Given the description of an element on the screen output the (x, y) to click on. 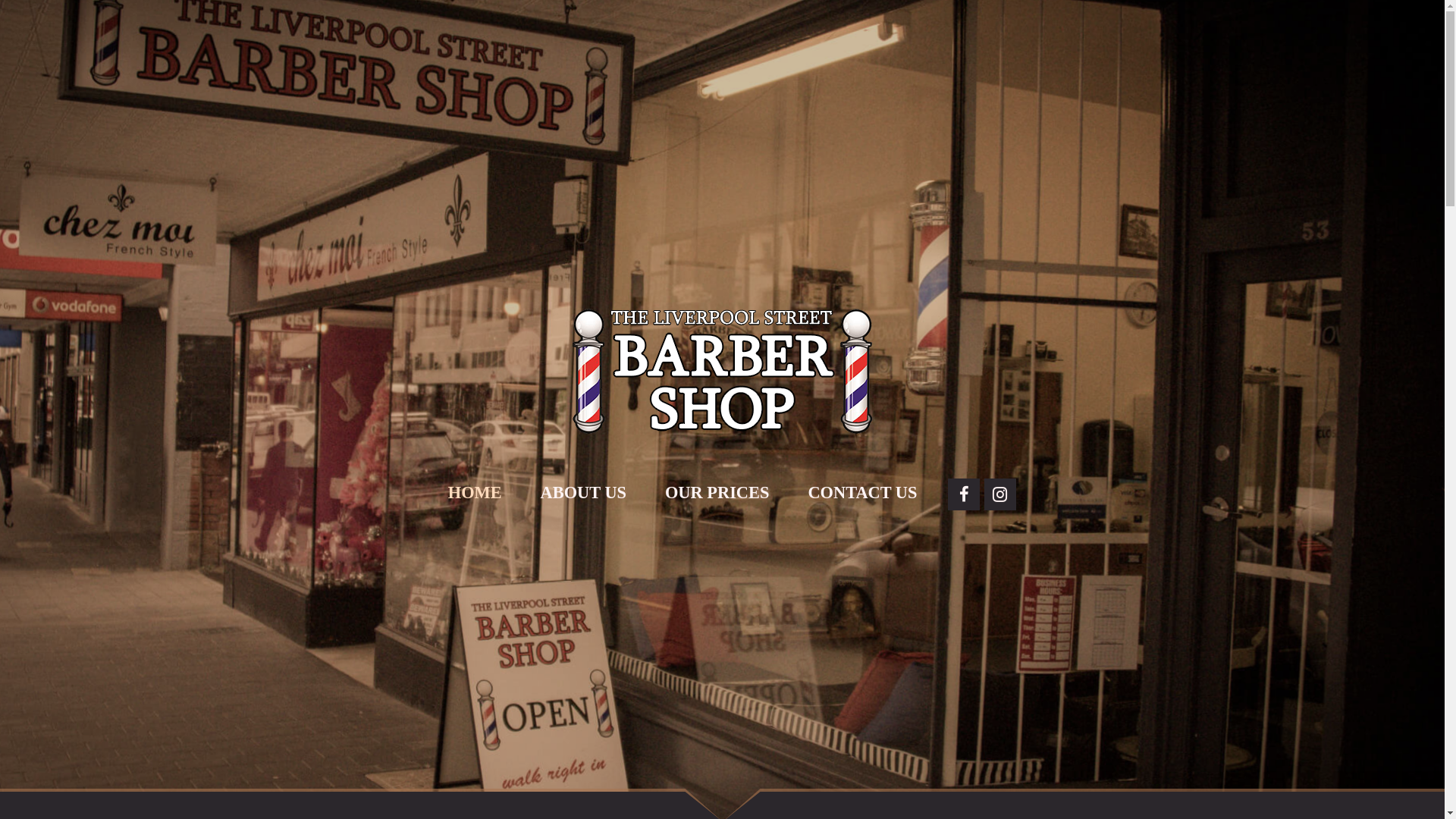
HOME Element type: text (474, 492)
CONTACT US Element type: text (862, 492)
OUR PRICES Element type: text (716, 492)
Instagram Element type: hover (1000, 494)
Facebook Element type: hover (963, 494)
ABOUT US Element type: text (583, 492)
